Given the description of an element on the screen output the (x, y) to click on. 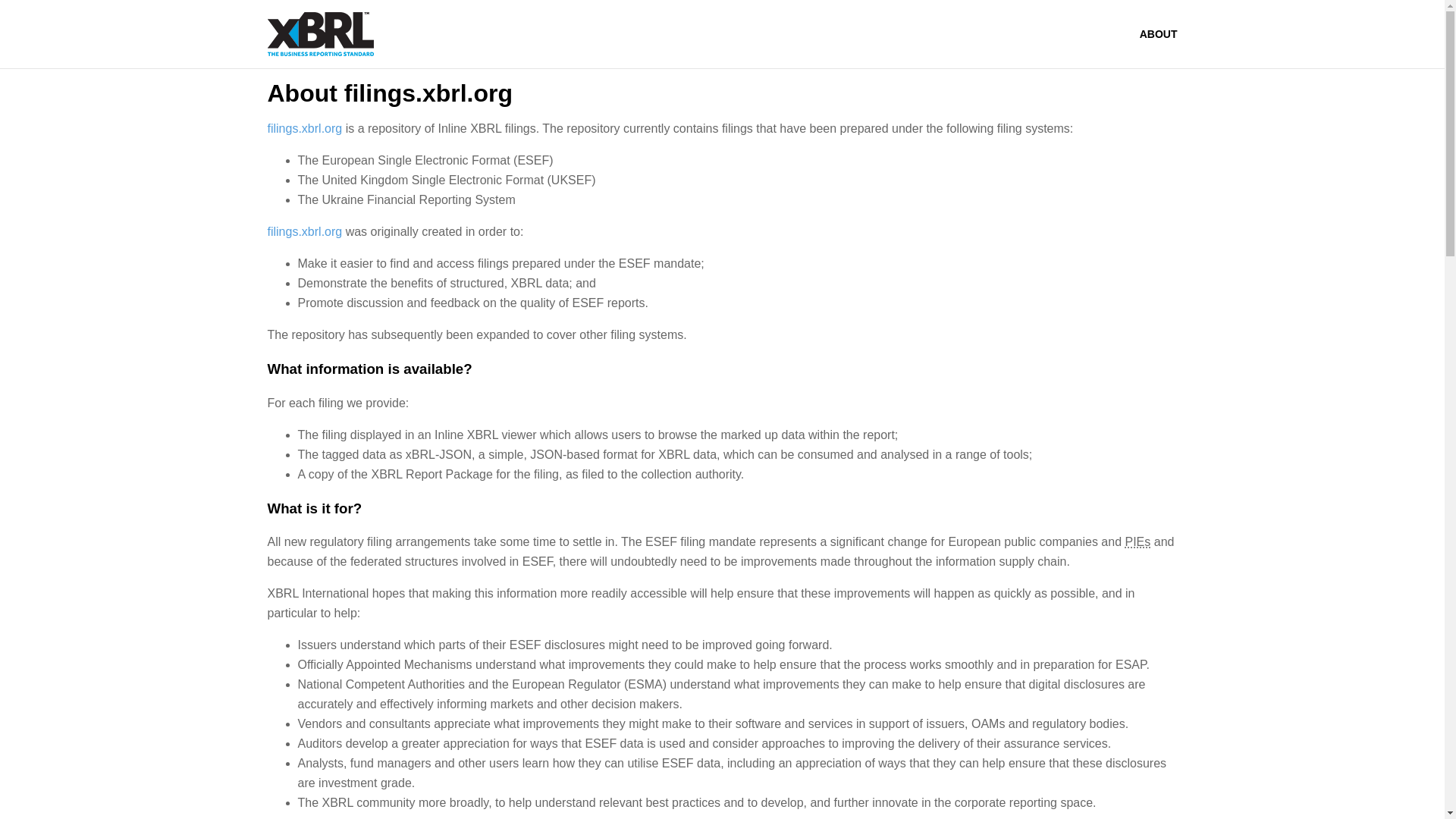
Public Interest Entities (1137, 541)
ABOUT (1158, 33)
filings.xbrl.org (304, 128)
filings.xbrl.org (304, 231)
